Given the description of an element on the screen output the (x, y) to click on. 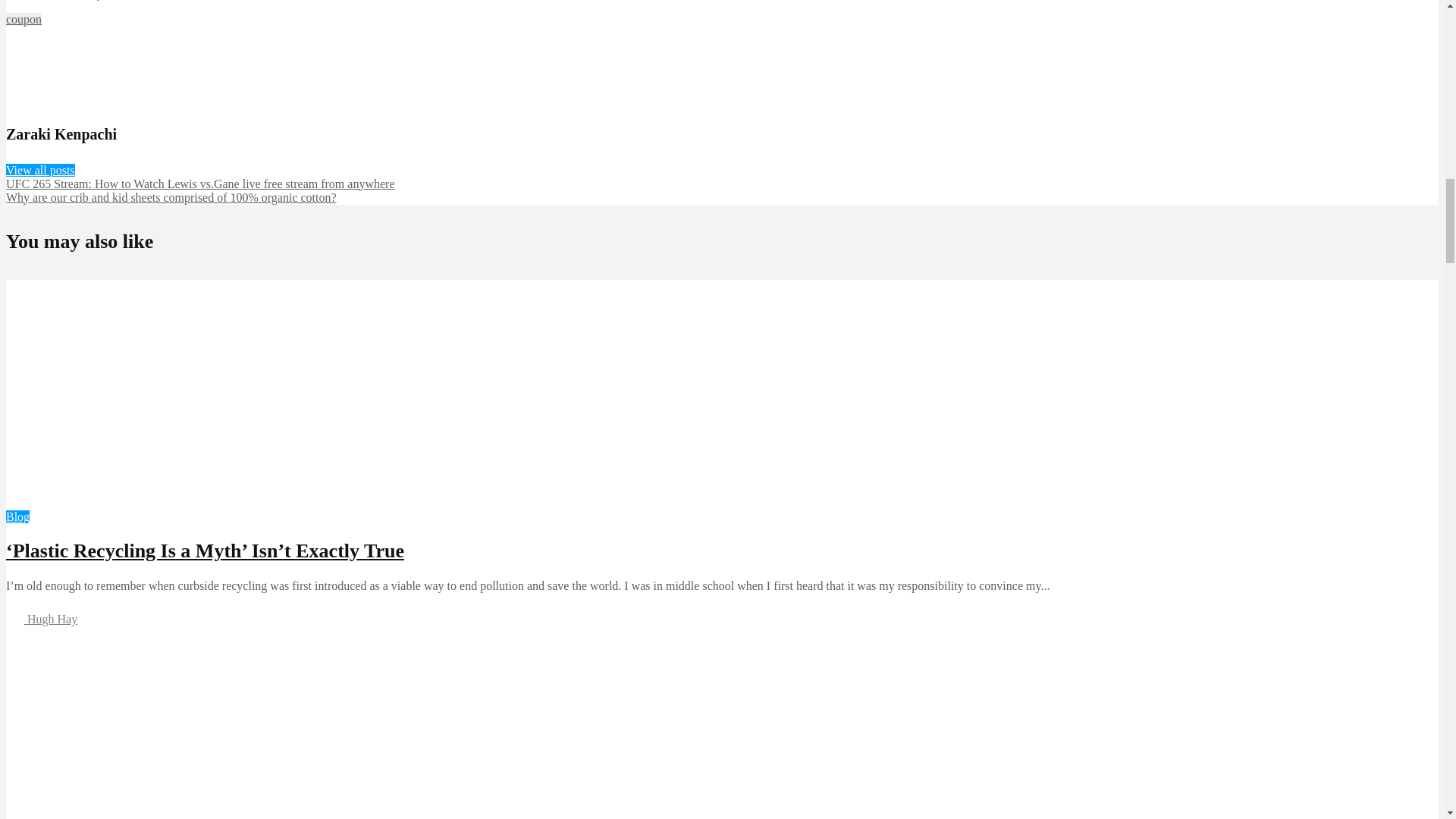
Blog (17, 516)
coupon (23, 19)
View all posts (40, 169)
